Given the description of an element on the screen output the (x, y) to click on. 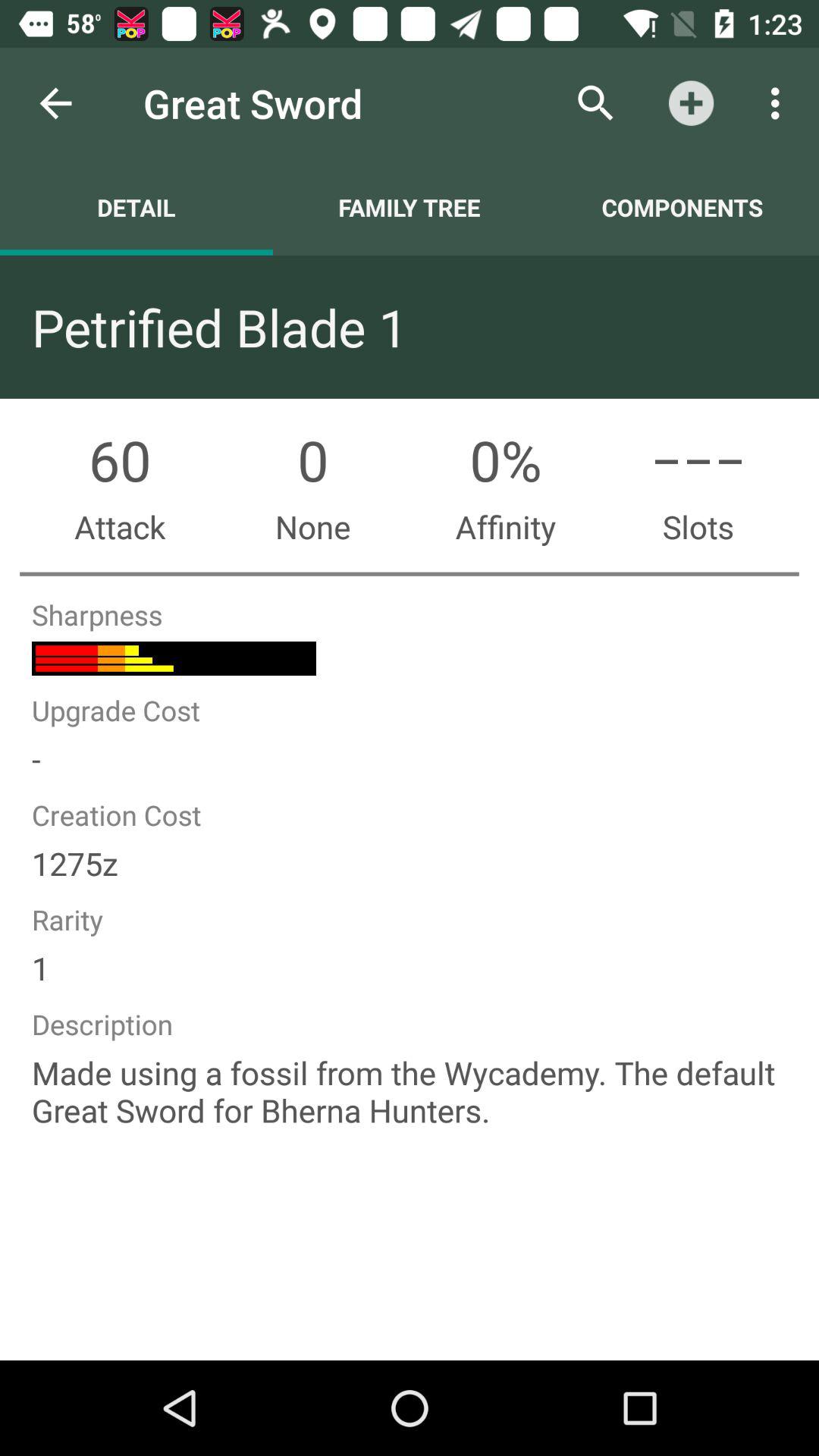
press the app next to components app (409, 207)
